Given the description of an element on the screen output the (x, y) to click on. 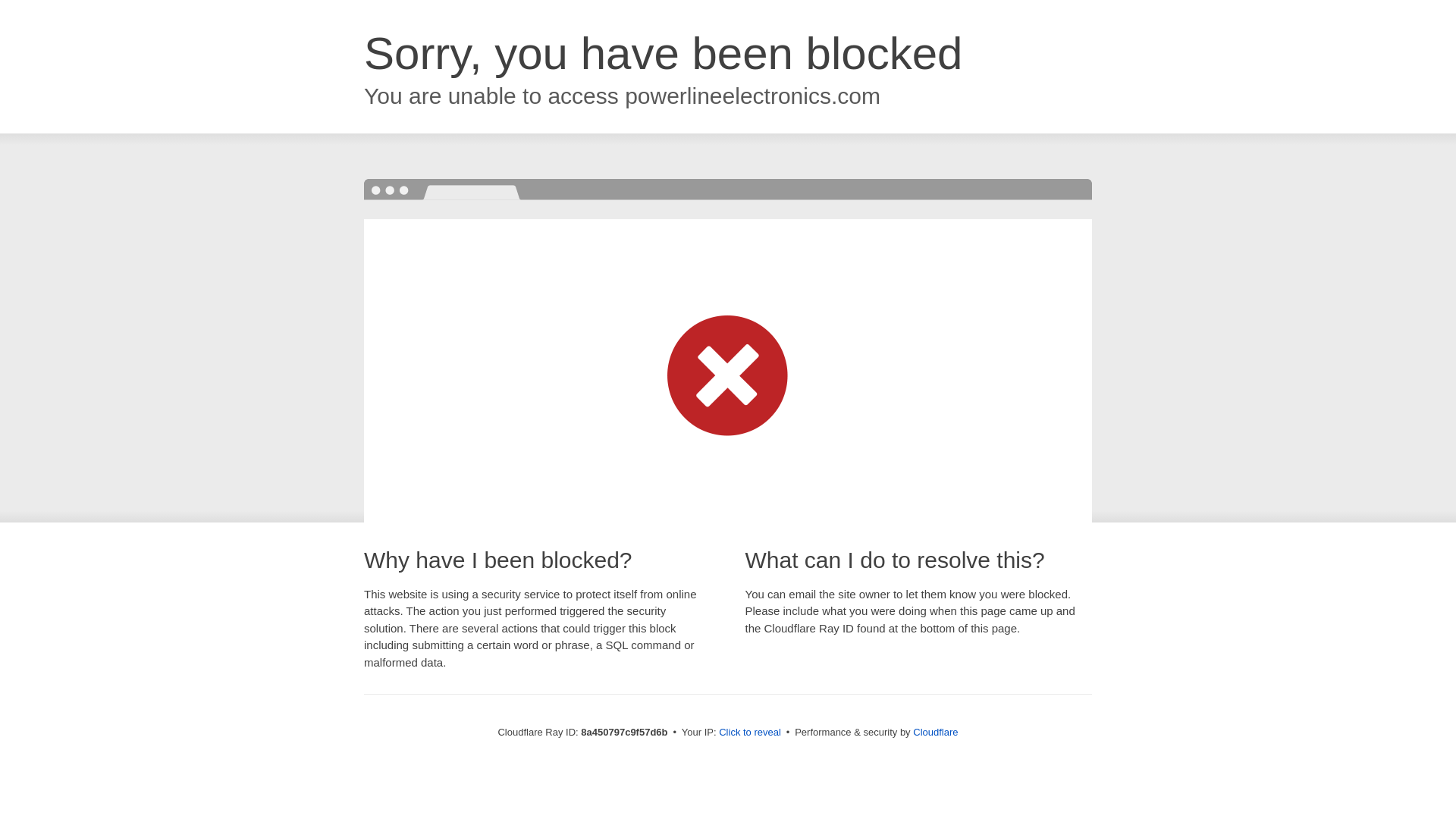
Cloudflare (935, 731)
Click to reveal (749, 732)
